Given the description of an element on the screen output the (x, y) to click on. 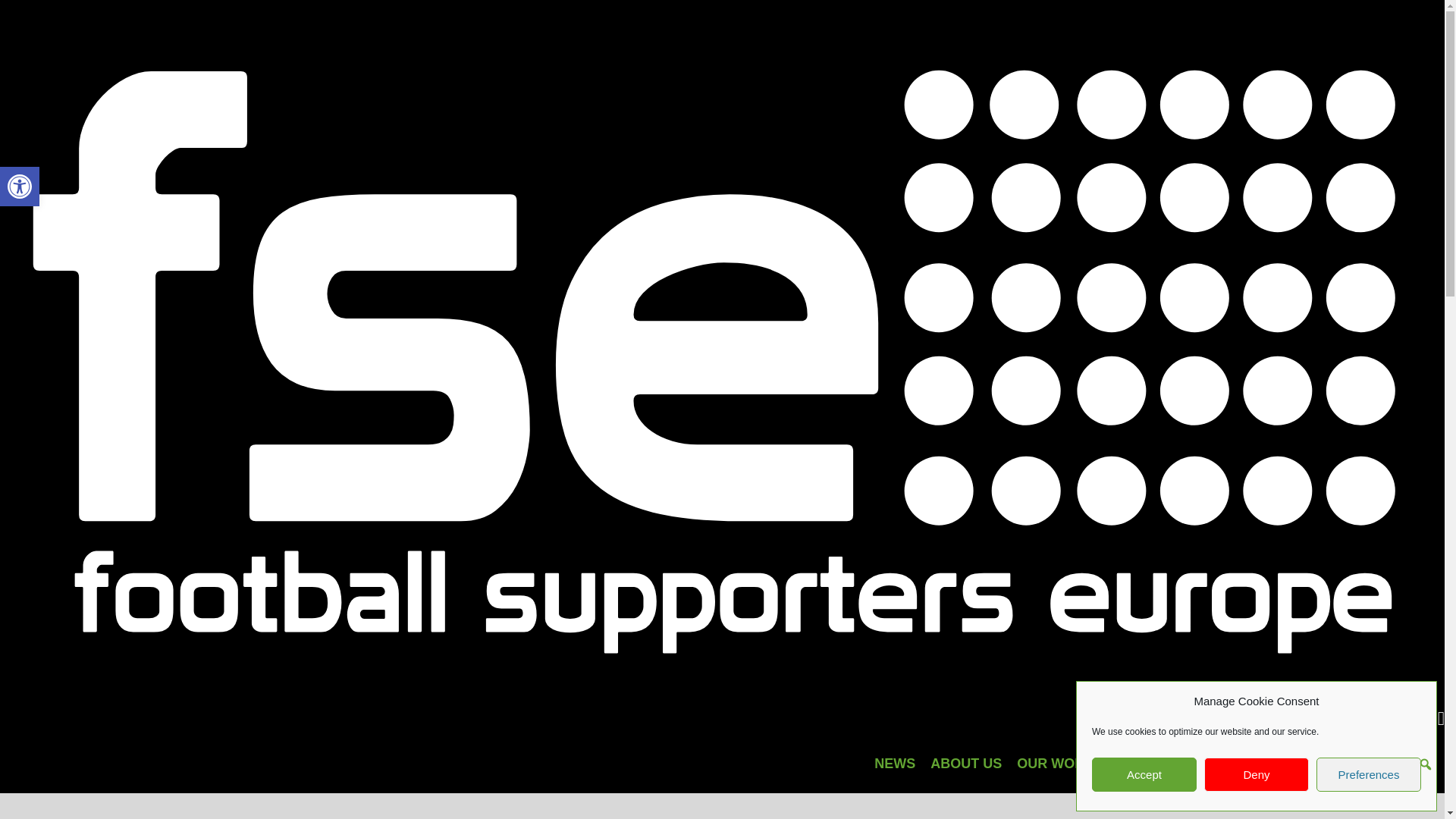
Preferences (1368, 774)
Accept (1144, 774)
OUR WORK (1055, 762)
ABOUT US (966, 762)
NEWS (894, 762)
Accessibility Tools (19, 186)
ACCESSIBILITY TOOLS (19, 186)
Deny (19, 186)
